Given the description of an element on the screen output the (x, y) to click on. 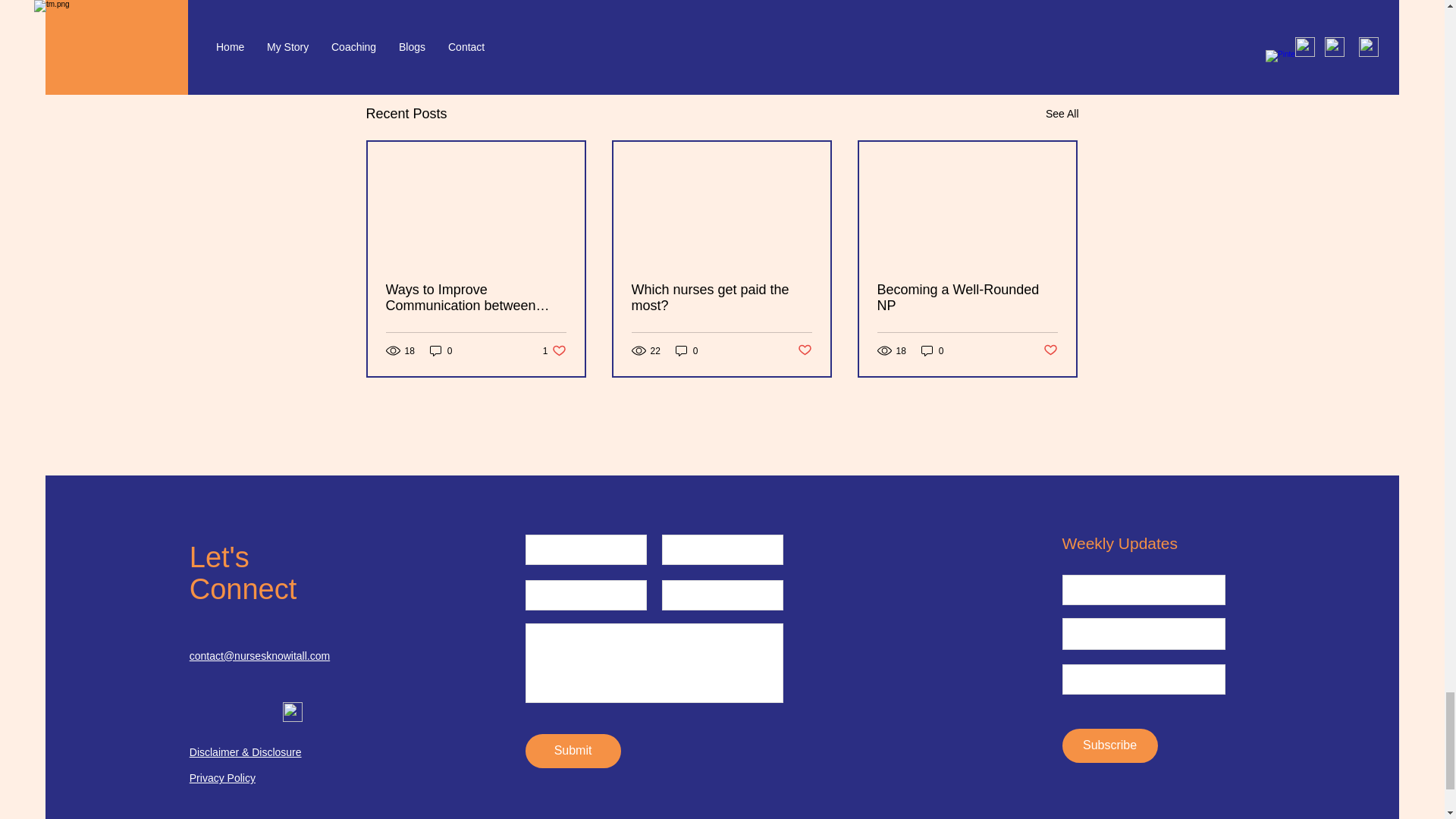
0 (441, 350)
Ways to Improve Communication between Nurses (554, 350)
See All (475, 297)
